Given the description of an element on the screen output the (x, y) to click on. 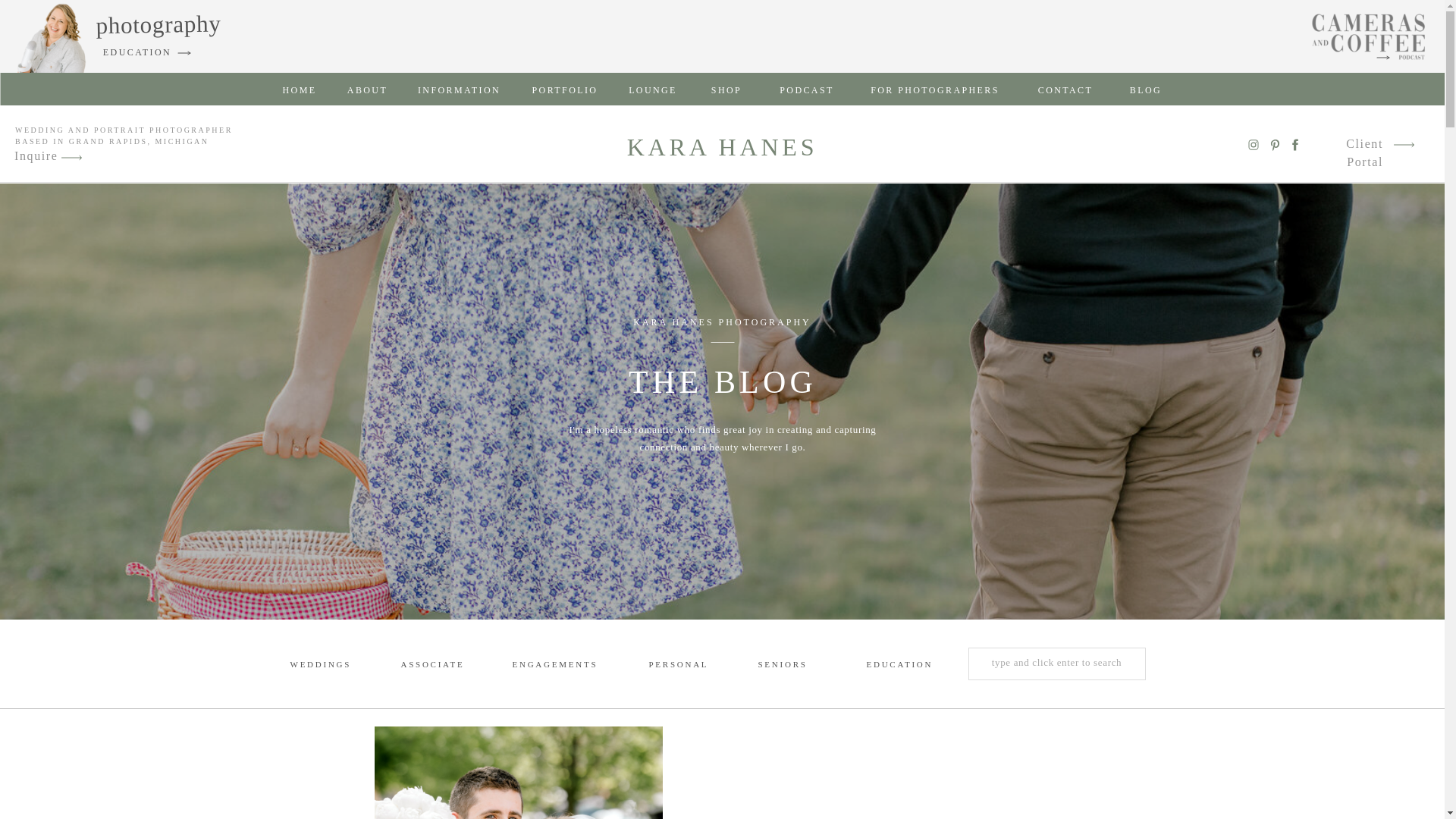
arrow (71, 157)
BLOG (1145, 89)
arrow (1403, 144)
PODCAST (807, 89)
EDUCATION (137, 51)
KARA HANES (722, 146)
arrow (71, 157)
photography (152, 26)
SHOP (725, 89)
ABOUT (367, 89)
HOME (299, 89)
INFORMATION (459, 89)
Inquire (37, 157)
PORTFOLIO (565, 89)
Client Portal (1347, 145)
